Given the description of an element on the screen output the (x, y) to click on. 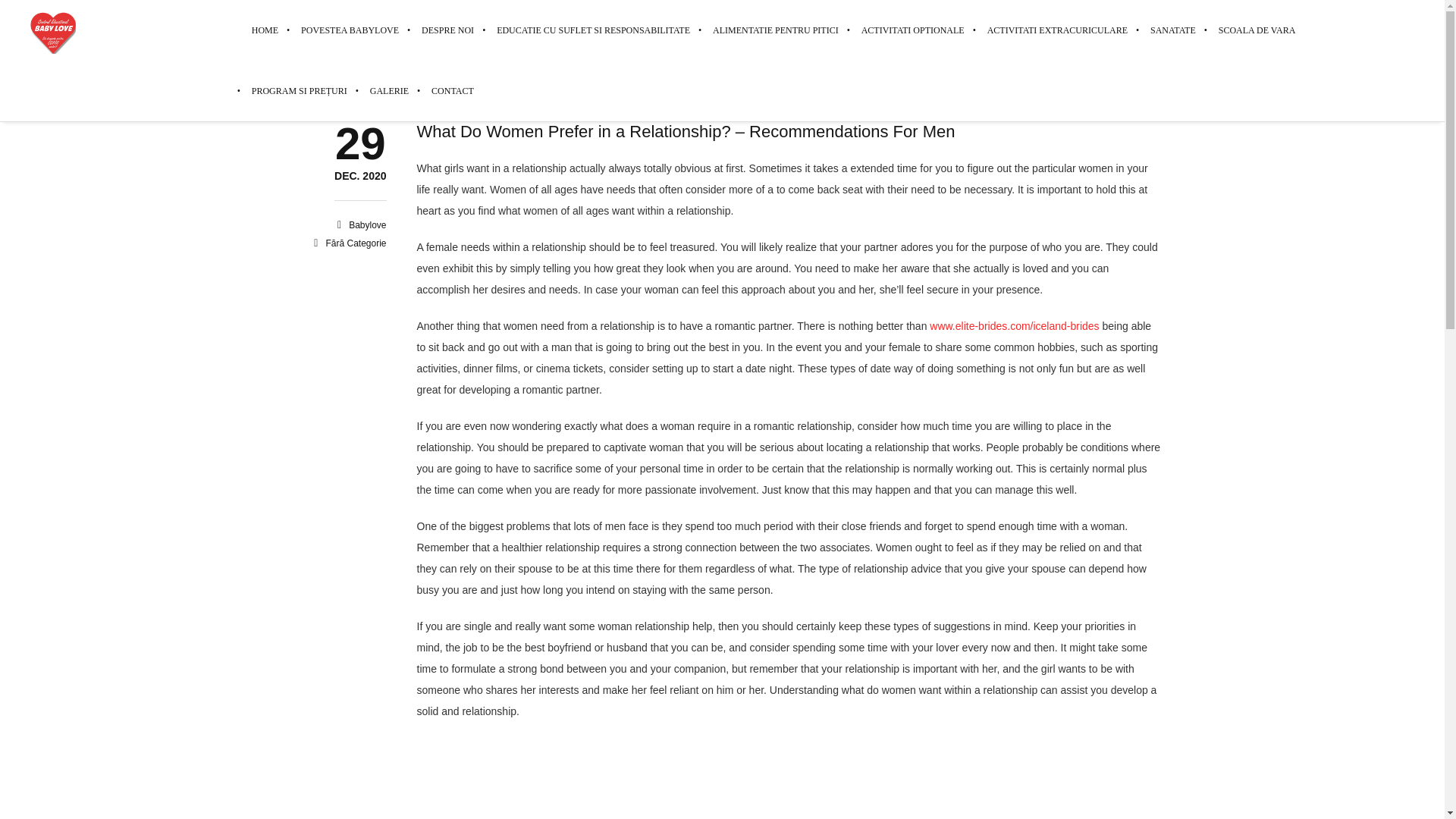
SCOALA DE VARA (1257, 30)
ACTIVITATI OPTIONALE (912, 30)
SANATATE (1172, 30)
GALERIE (389, 90)
Articole de Babylove (367, 225)
CONTACT (447, 90)
DESPRE NOI (447, 30)
ALIMENTATIE PENTRU PITICI (359, 176)
ACTIVITATI EXTRACURICULARE (775, 30)
EDUCATIE CU SUFLET SI RESPONSABILITATE (1056, 30)
Babylove (592, 30)
POVESTEA BABYLOVE (367, 225)
HOME (349, 30)
